Given the description of an element on the screen output the (x, y) to click on. 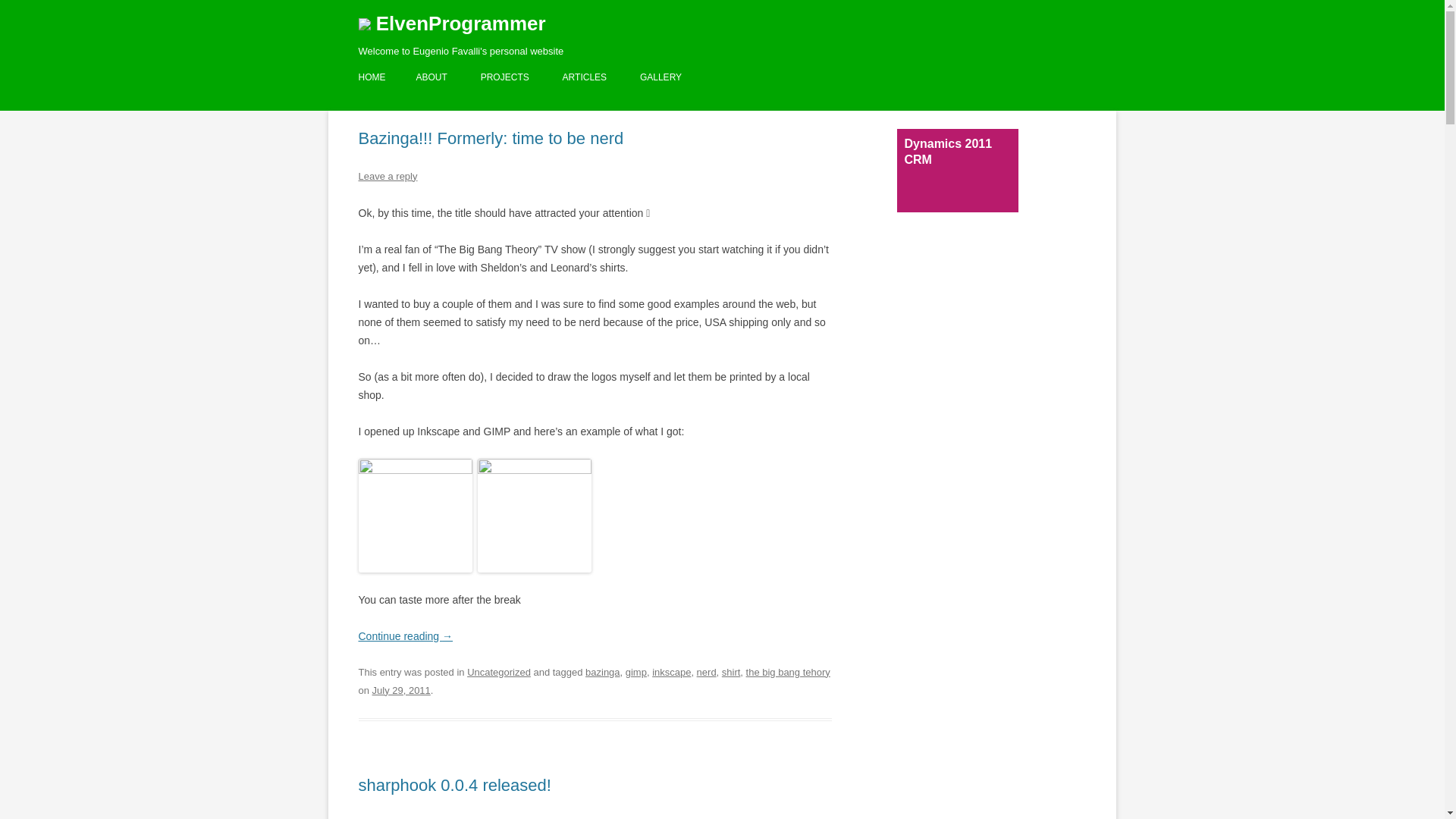
ABOUT (430, 77)
tv-signal-sample (414, 515)
tv-signal-low-saturation (534, 515)
6:15 pm (401, 690)
Uncategorized (499, 672)
shirt (731, 672)
gimp (636, 672)
bazinga (602, 672)
ARTICLES (584, 77)
Permalink to sharphook 0.0.4 released! (454, 784)
